Given the description of an element on the screen output the (x, y) to click on. 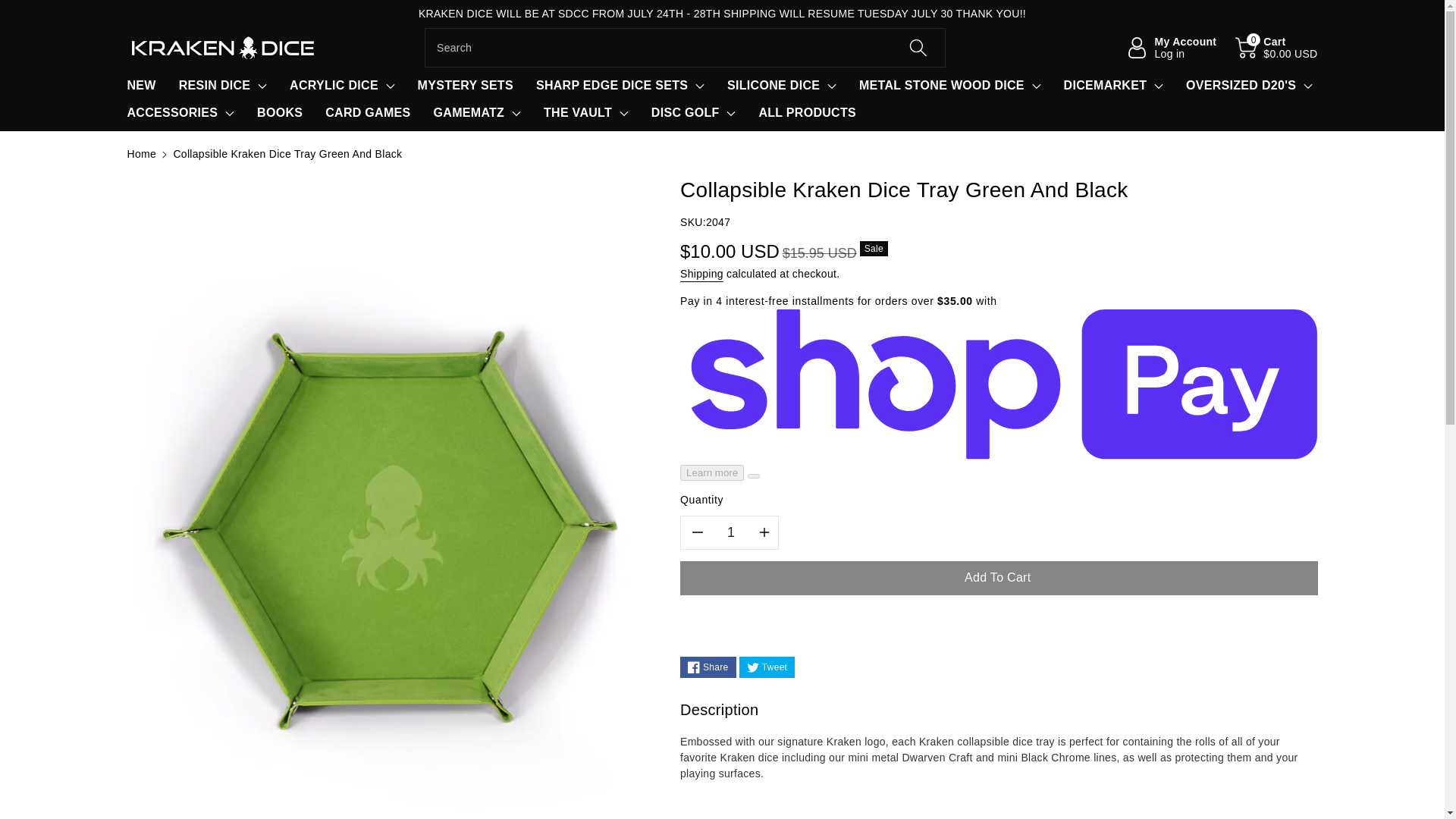
1 (731, 532)
Skip To Content (8, 8)
Home (142, 153)
